Given the description of an element on the screen output the (x, y) to click on. 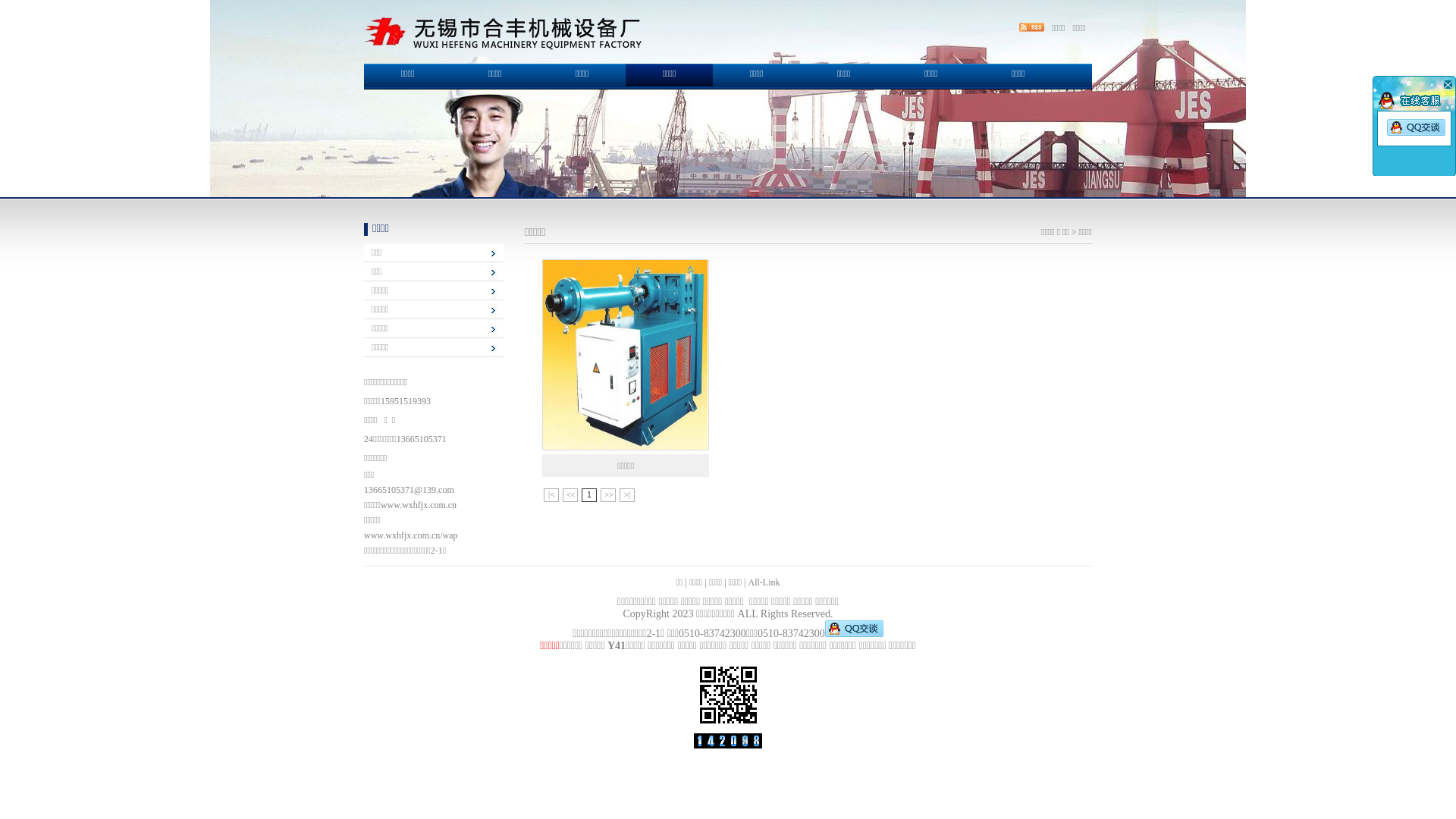
All-Link Element type: text (763, 582)
www.wxhfjx.com.cn Element type: text (418, 504)
<< Element type: text (569, 495)
1 Element type: text (588, 495)
|< Element type: text (550, 495)
www.wxhfjx.com.cn/wap Element type: text (411, 535)
>> Element type: text (607, 495)
>| Element type: text (626, 495)
  Element type: text (1446, 84)
